Given the description of an element on the screen output the (x, y) to click on. 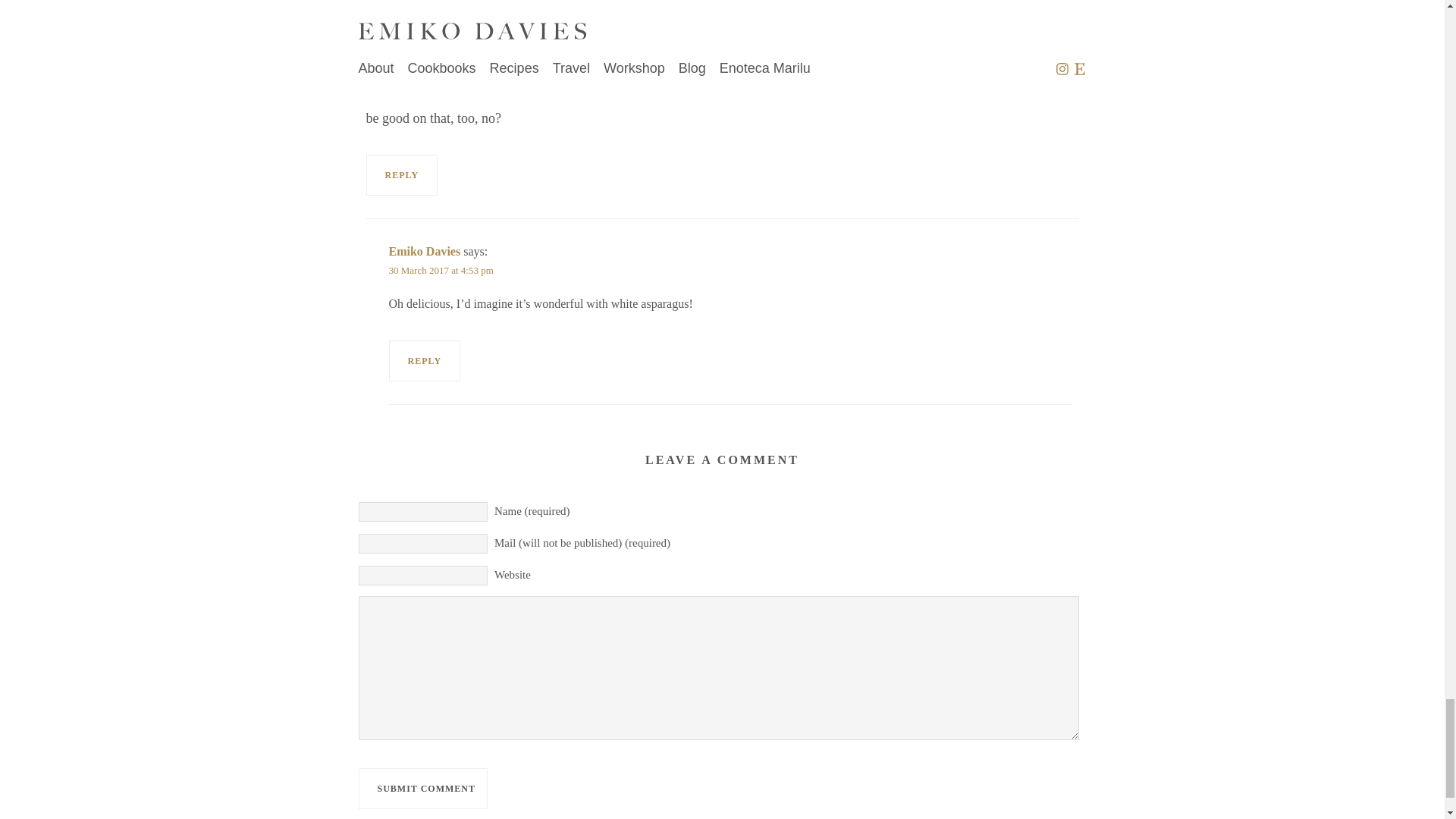
Submit Comment (422, 788)
